Given the description of an element on the screen output the (x, y) to click on. 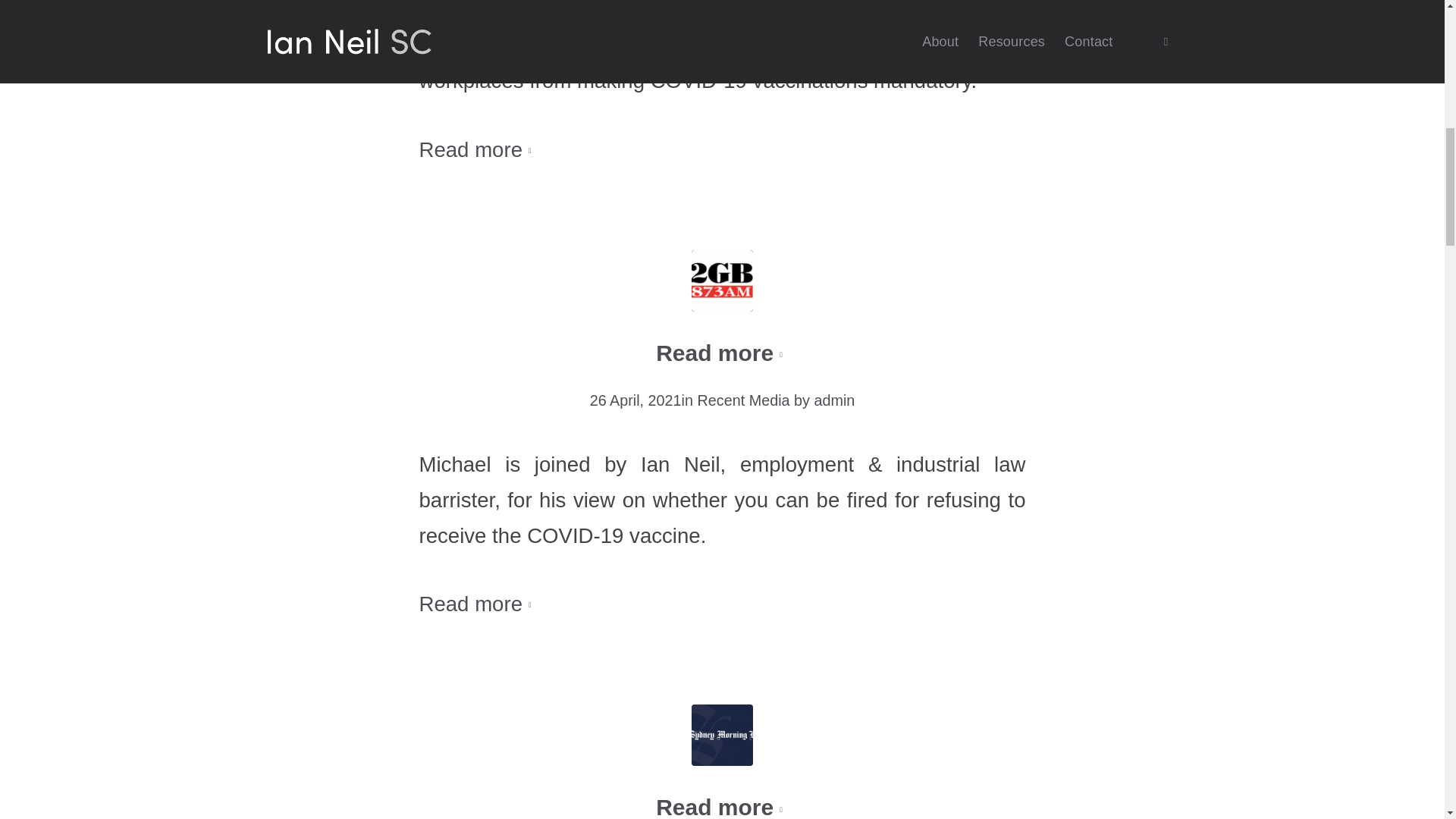
POST-SMH (721, 734)
Posts by admin (833, 400)
Read more (722, 354)
Read more (478, 605)
Read more (722, 805)
admin (833, 400)
POST-2GB (721, 281)
Recent Media (743, 400)
Read more (478, 150)
